Given the description of an element on the screen output the (x, y) to click on. 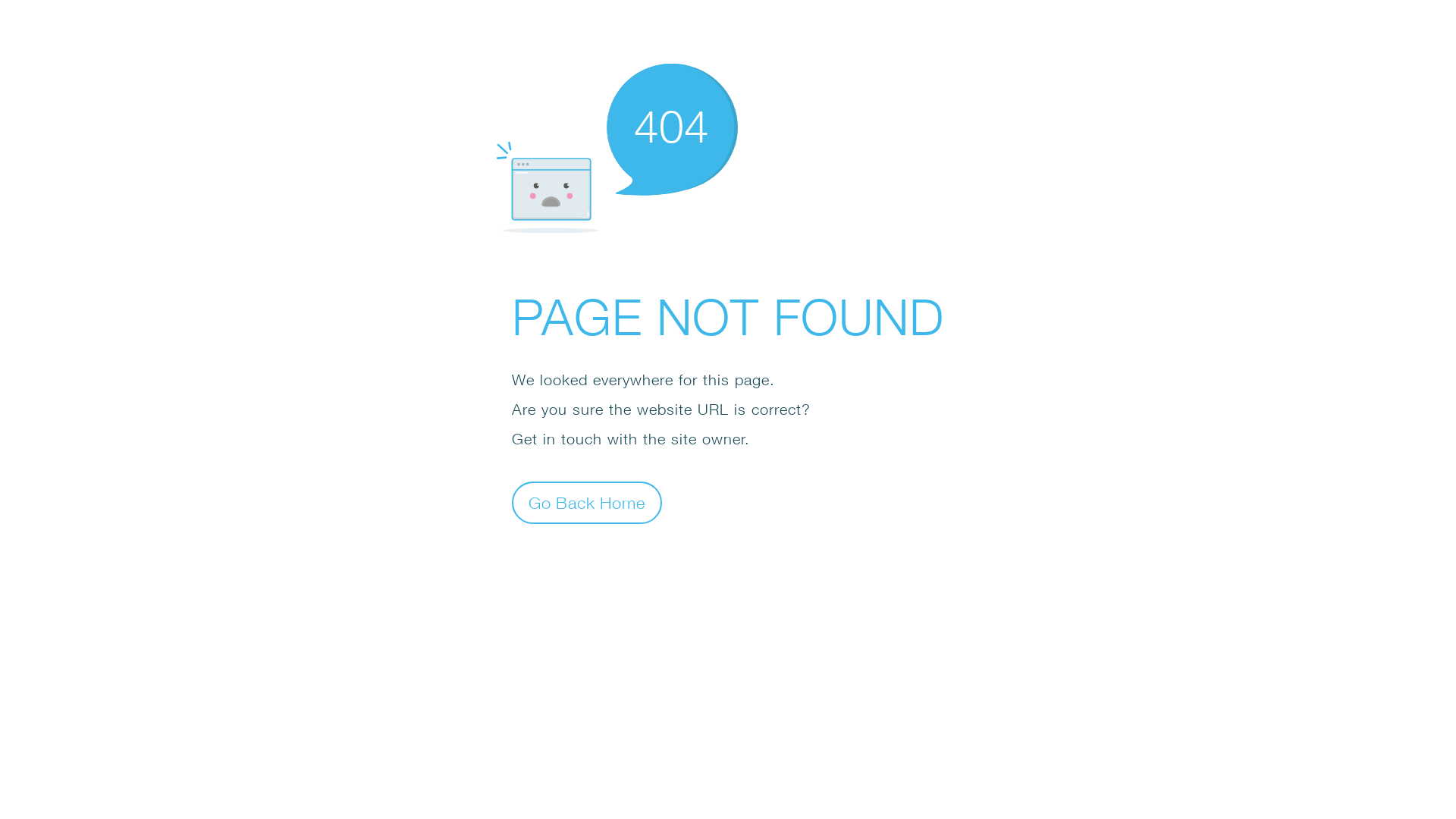
Go Back Home Element type: text (586, 502)
